Given the description of an element on the screen output the (x, y) to click on. 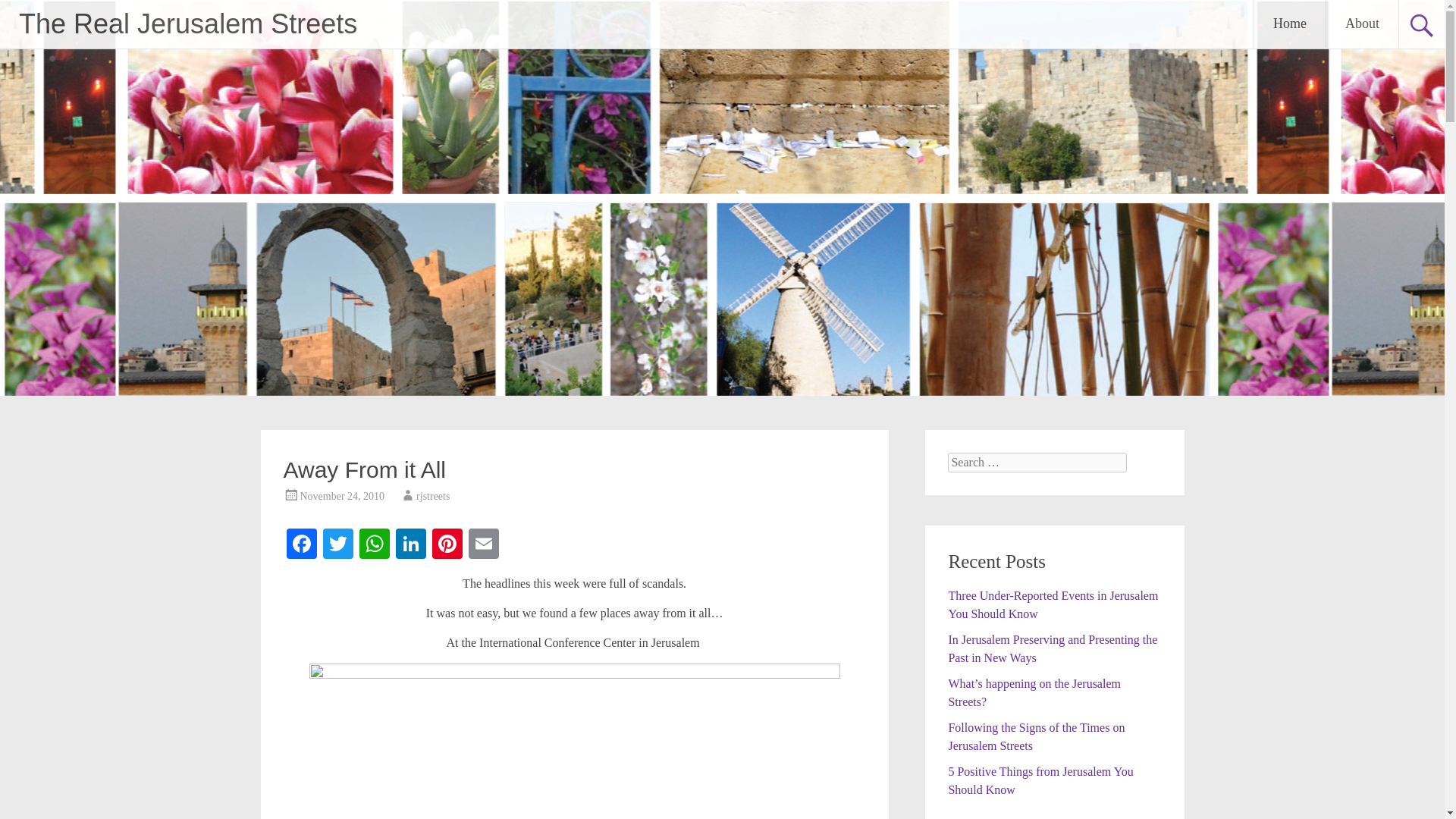
Twitter (338, 545)
About (1361, 23)
LinkedIn (411, 545)
Facebook (301, 545)
In Jerusalem Preserving and Presenting the Past in New Ways (1052, 648)
Email (483, 545)
Search (26, 12)
The Real Jerusalem Streets (187, 23)
Home (1288, 23)
LinkedIn (411, 545)
DSC03288 (574, 741)
Facebook (301, 545)
November 24, 2010 (342, 496)
WhatsApp (374, 545)
rjstreets (432, 496)
